Given the description of an element on the screen output the (x, y) to click on. 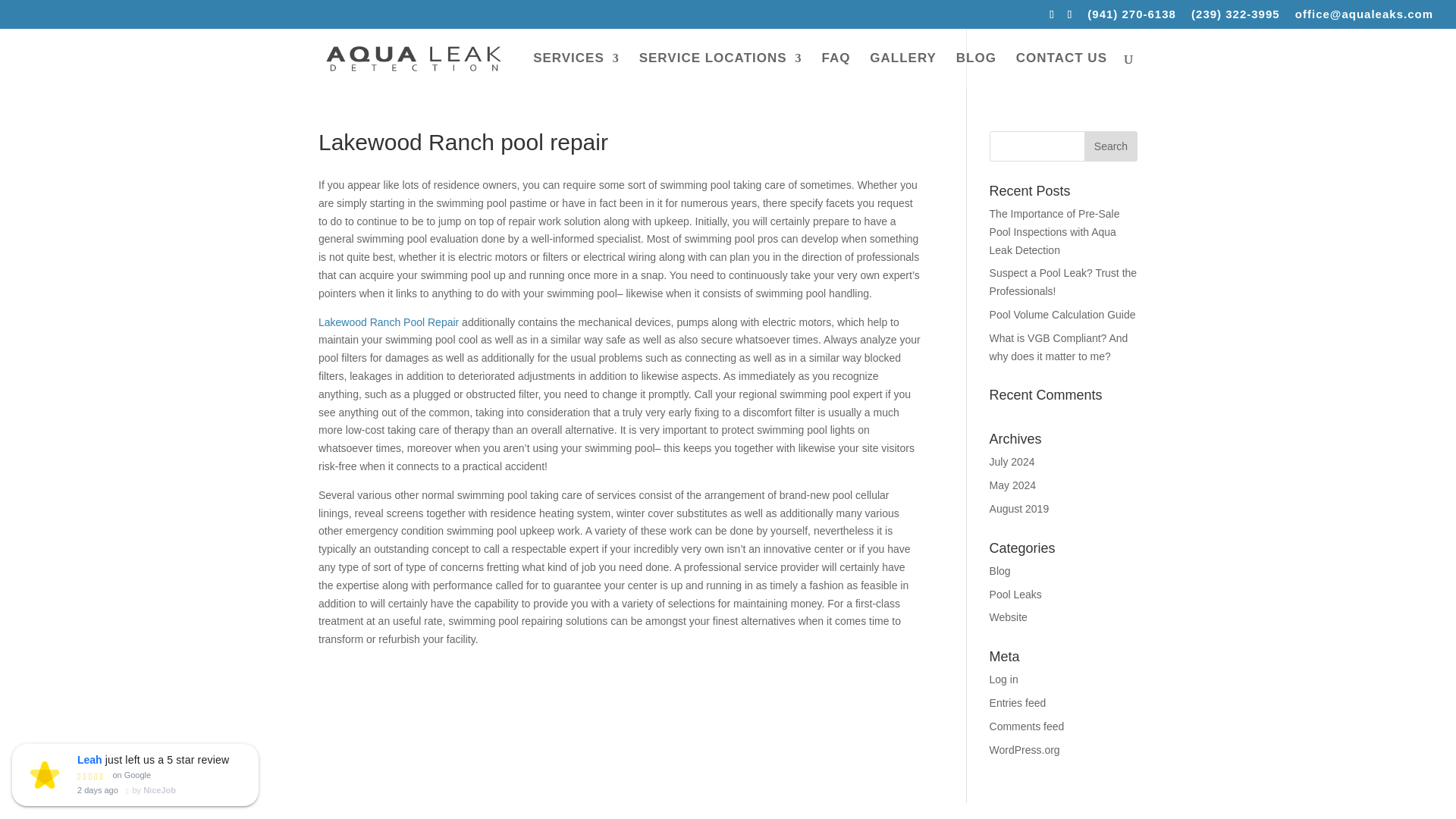
BLOG (975, 70)
Search (1110, 146)
SERVICES (576, 70)
SERVICE LOCATIONS (720, 70)
GALLERY (902, 70)
